Given the description of an element on the screen output the (x, y) to click on. 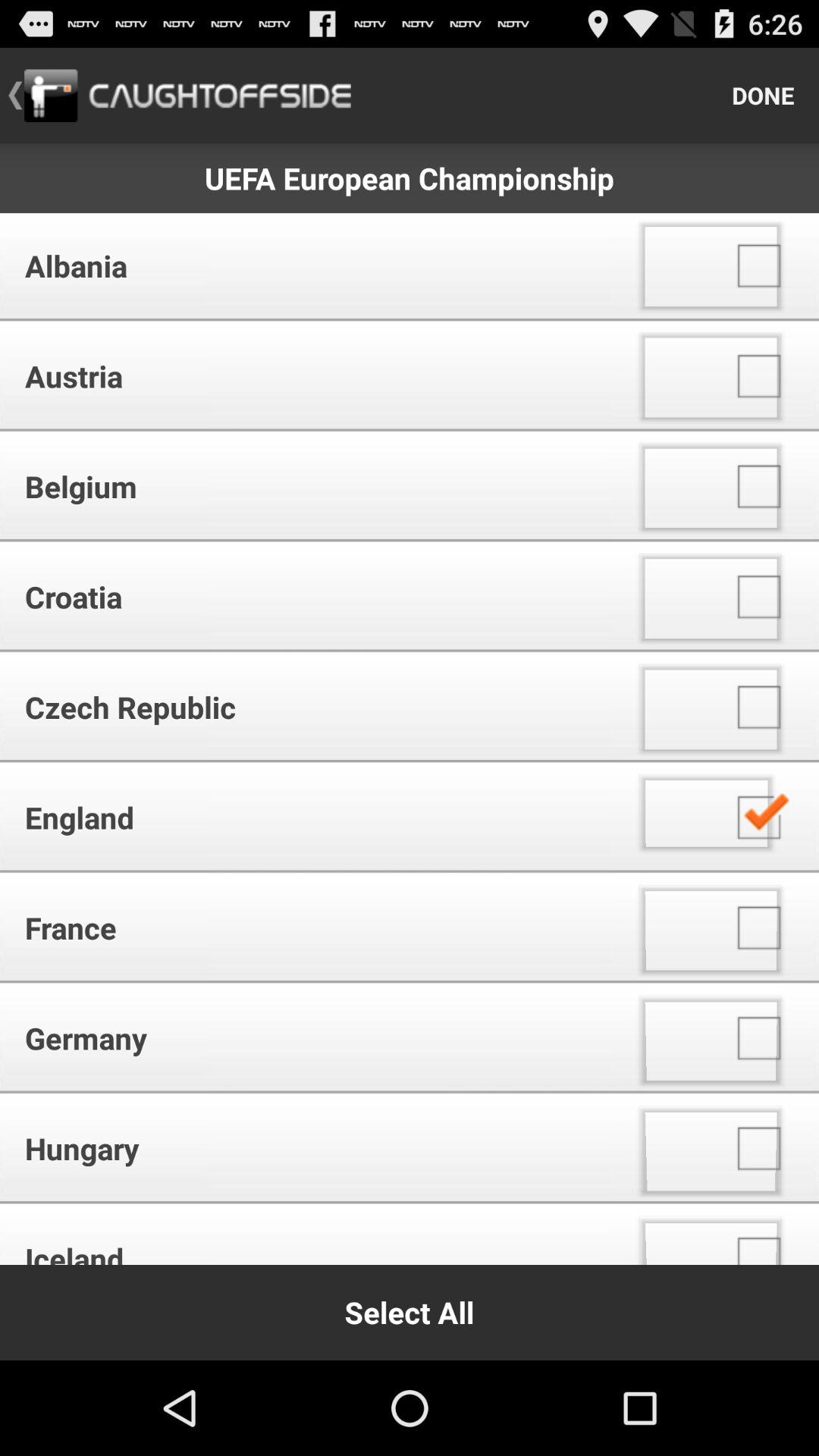
choose the icon above croatia (311, 486)
